Given the description of an element on the screen output the (x, y) to click on. 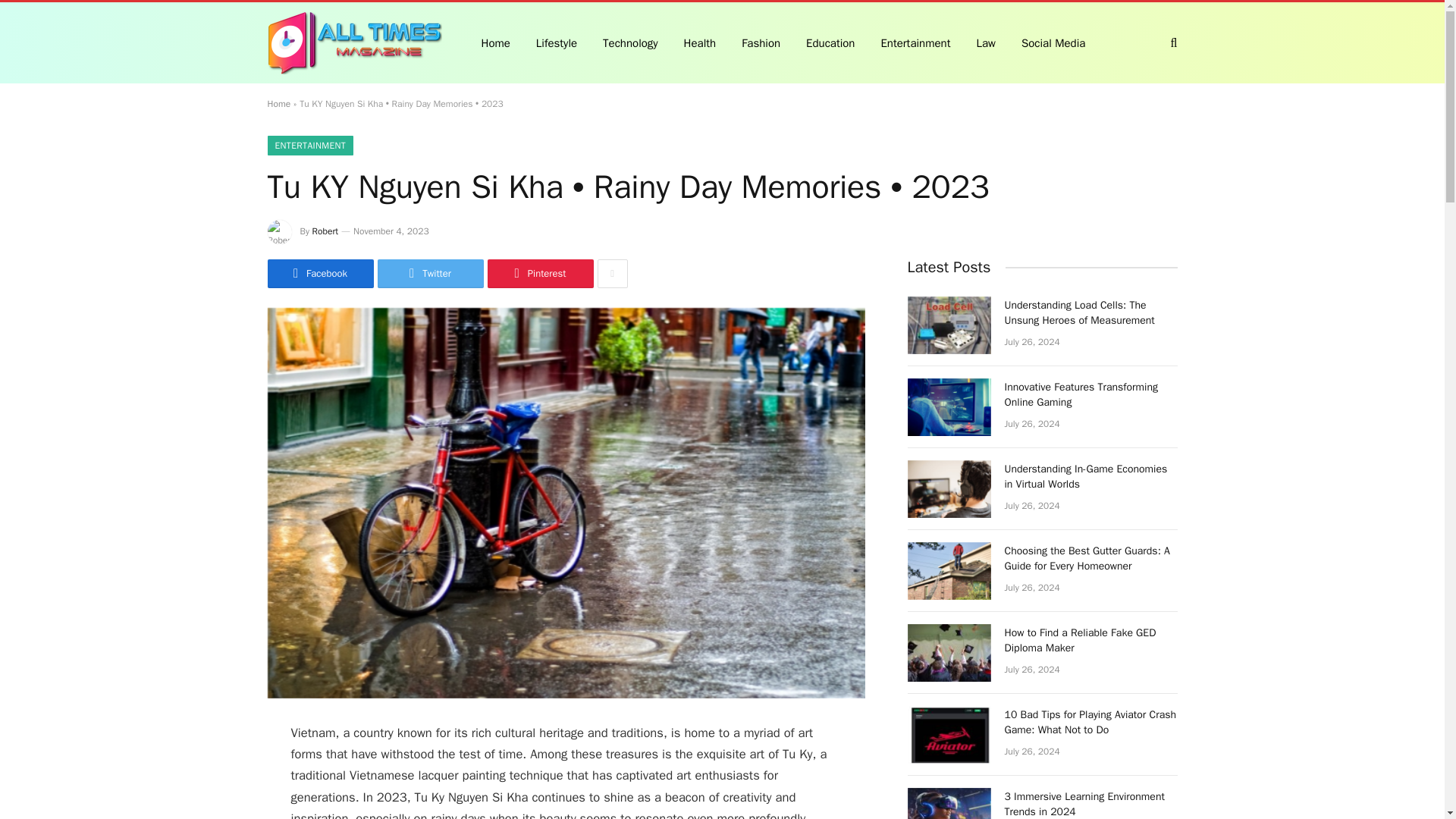
Pinterest (539, 273)
ENTERTAINMENT (309, 145)
Facebook (319, 273)
Show More Social Sharing (611, 273)
Share on Facebook (319, 273)
Education (830, 42)
Social Media (1053, 42)
Twitter (430, 273)
Share on Pinterest (539, 273)
Home (277, 103)
alltimesmagazine.com (353, 42)
Robert (326, 231)
Entertainment (914, 42)
Technology (630, 42)
Posts by Robert (326, 231)
